Given the description of an element on the screen output the (x, y) to click on. 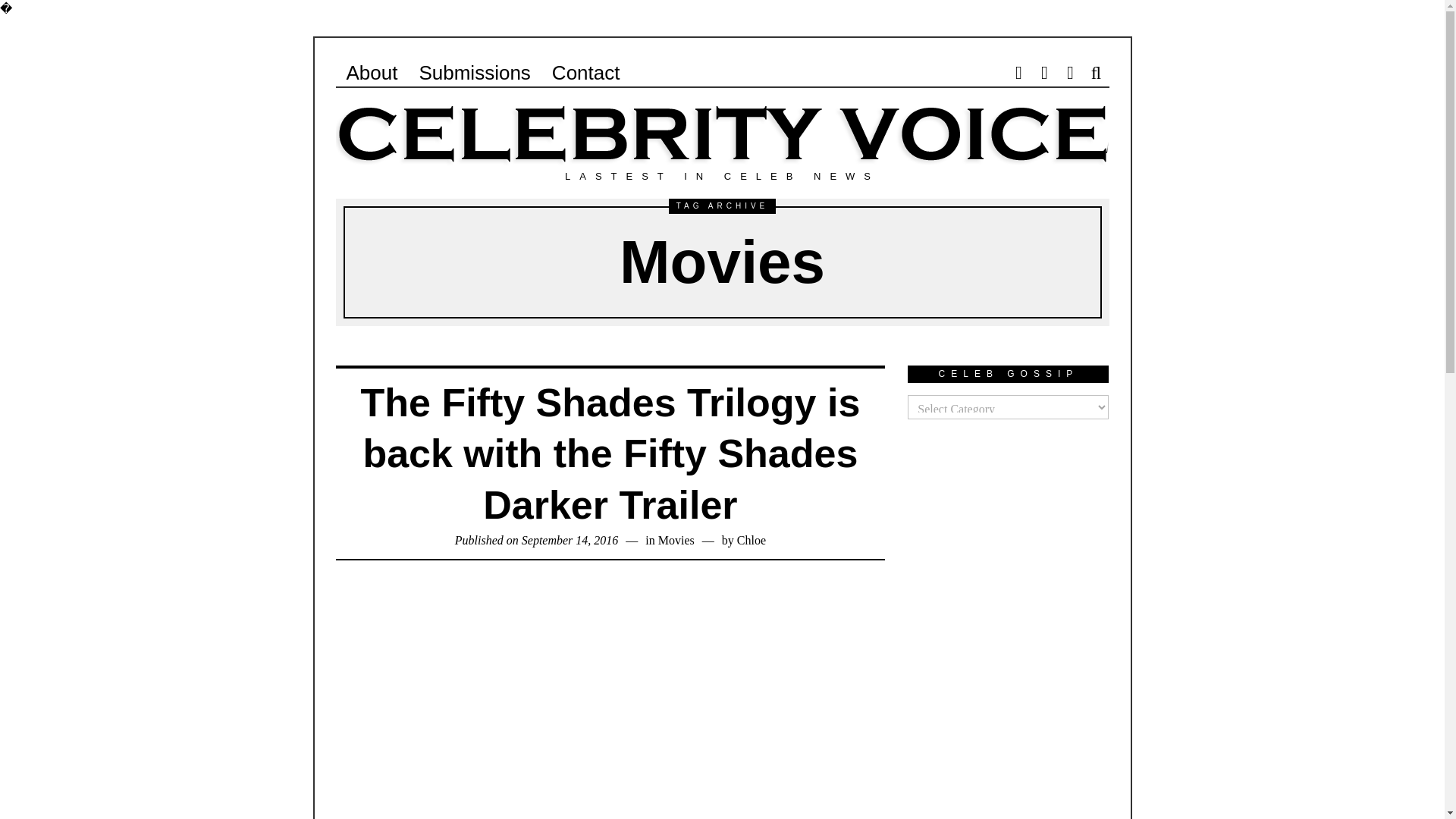
Contact (585, 72)
Submissions (473, 72)
About (370, 72)
Chloe (750, 540)
Movies (676, 540)
